Given the description of an element on the screen output the (x, y) to click on. 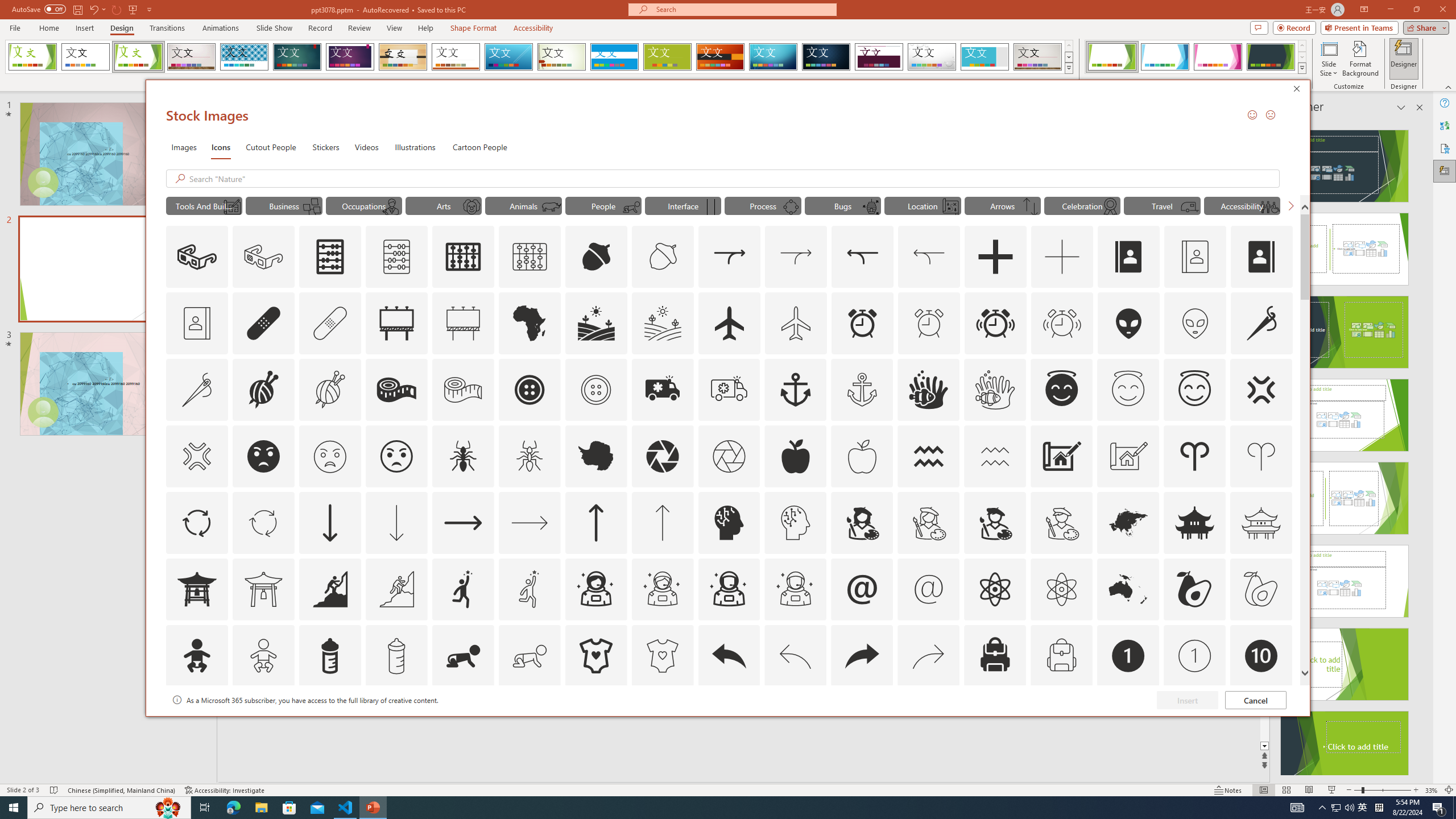
AutomationID: Icons_Agriculture_M (663, 323)
AutomationID: Icons_AlterationsTailoring3_M (595, 389)
"Animals" Icons. (523, 205)
Next Search Suggestion (1290, 205)
AutomationID: Icons_Back_RTL (861, 655)
AutomationID: Icons_AlterationsTailoring3 (529, 389)
AutomationID: Icons_Anchor_M (861, 389)
AutomationID: Icons_AngerSymbol_M (196, 455)
Office Theme (85, 56)
AutomationID: Icons_Acquisition_RTL (863, 256)
